Given the description of an element on the screen output the (x, y) to click on. 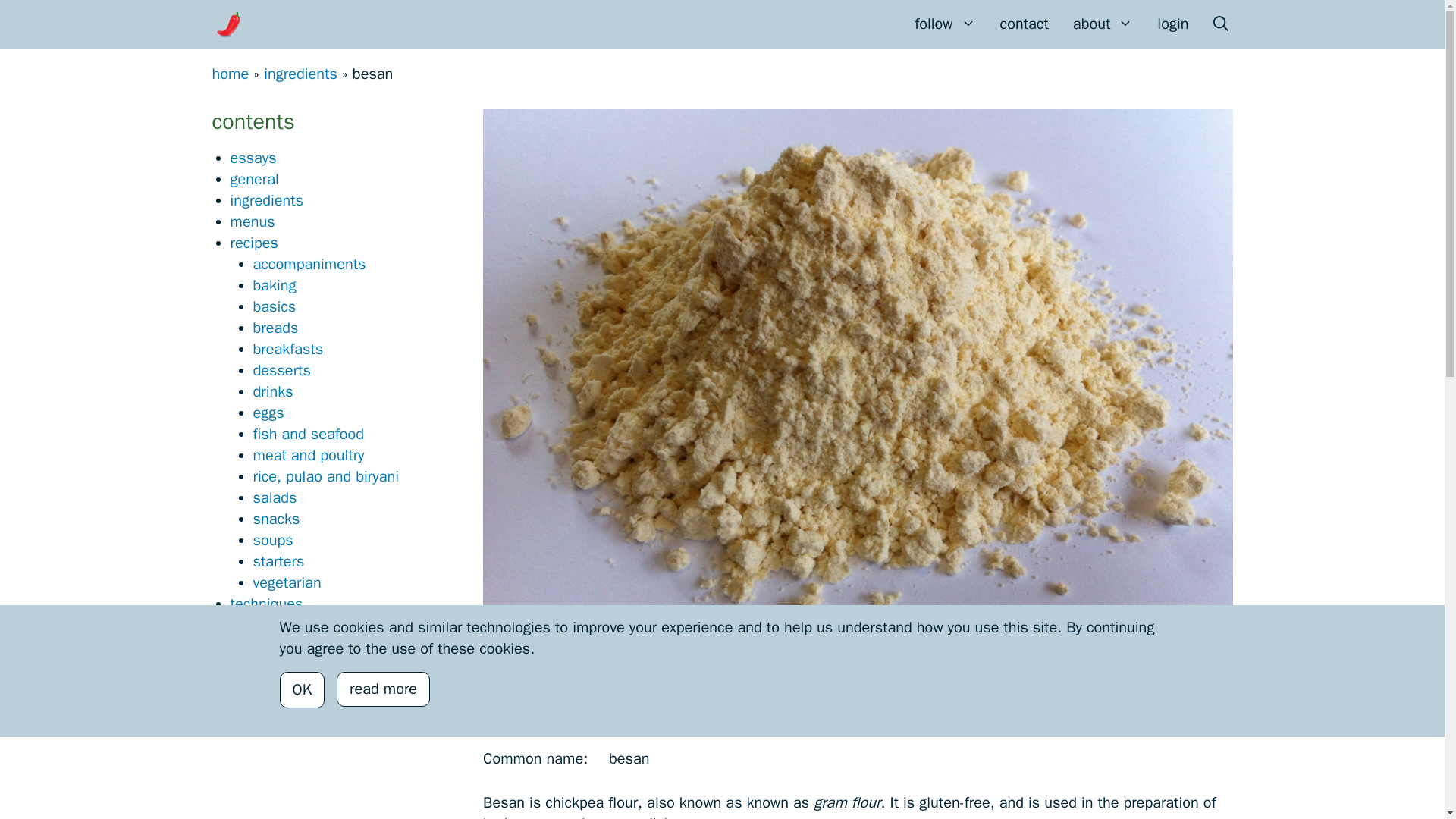
drinks (273, 391)
follow (944, 24)
home (230, 73)
basics (275, 306)
recipes (254, 242)
menus (252, 221)
login (1171, 24)
ingredients (300, 73)
